Given the description of an element on the screen output the (x, y) to click on. 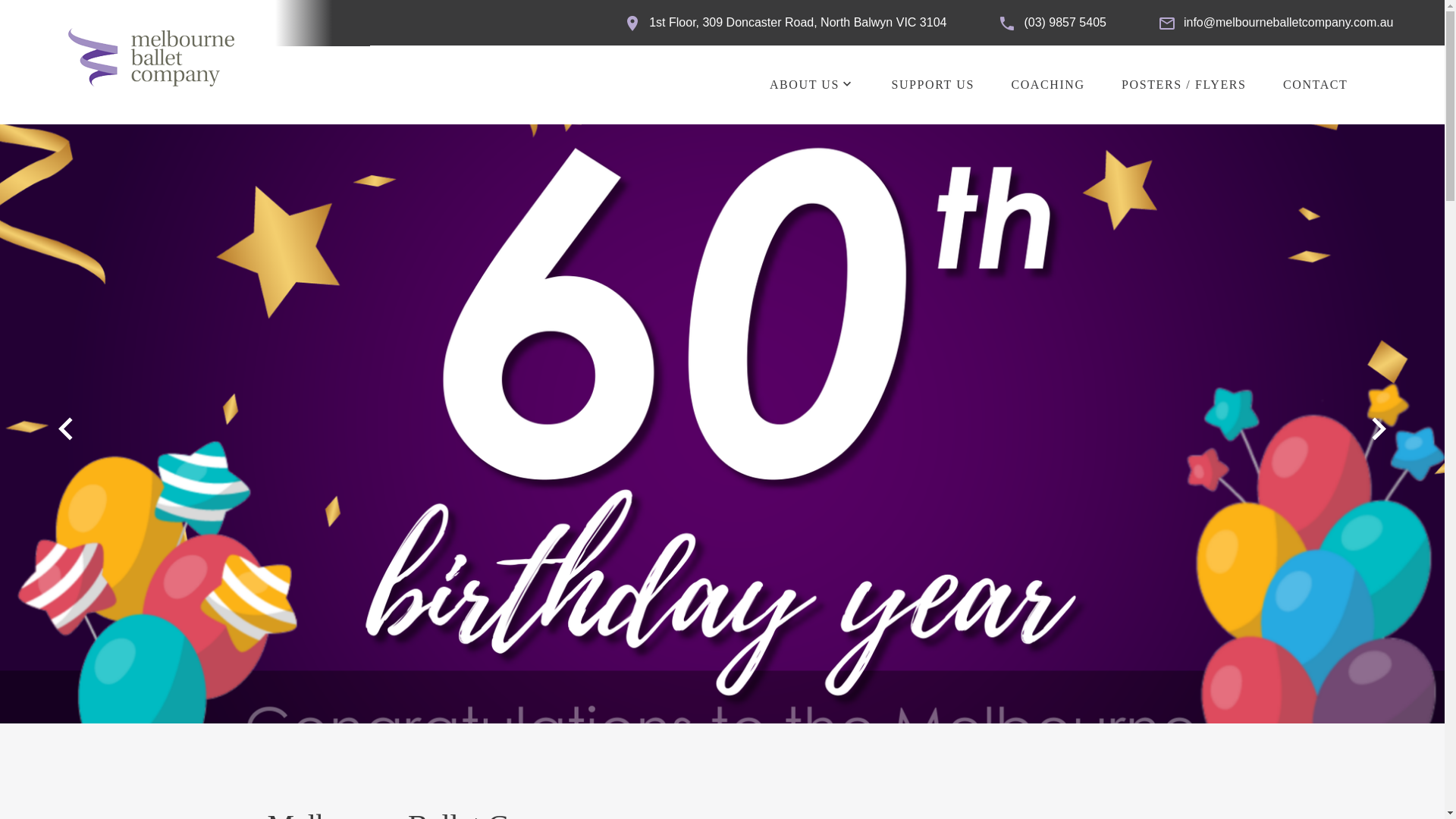
ABOUT US Element type: text (804, 84)
SUPPORT US Element type: text (932, 84)
COACHING Element type: text (1047, 84)
CONTACT Element type: text (1315, 84)
info@melbourneballetcompany.com.au Element type: text (1288, 21)
(03) 9857 5405 Element type: text (1064, 21)
POSTERS / FLYERS Element type: text (1183, 84)
